Given the description of an element on the screen output the (x, y) to click on. 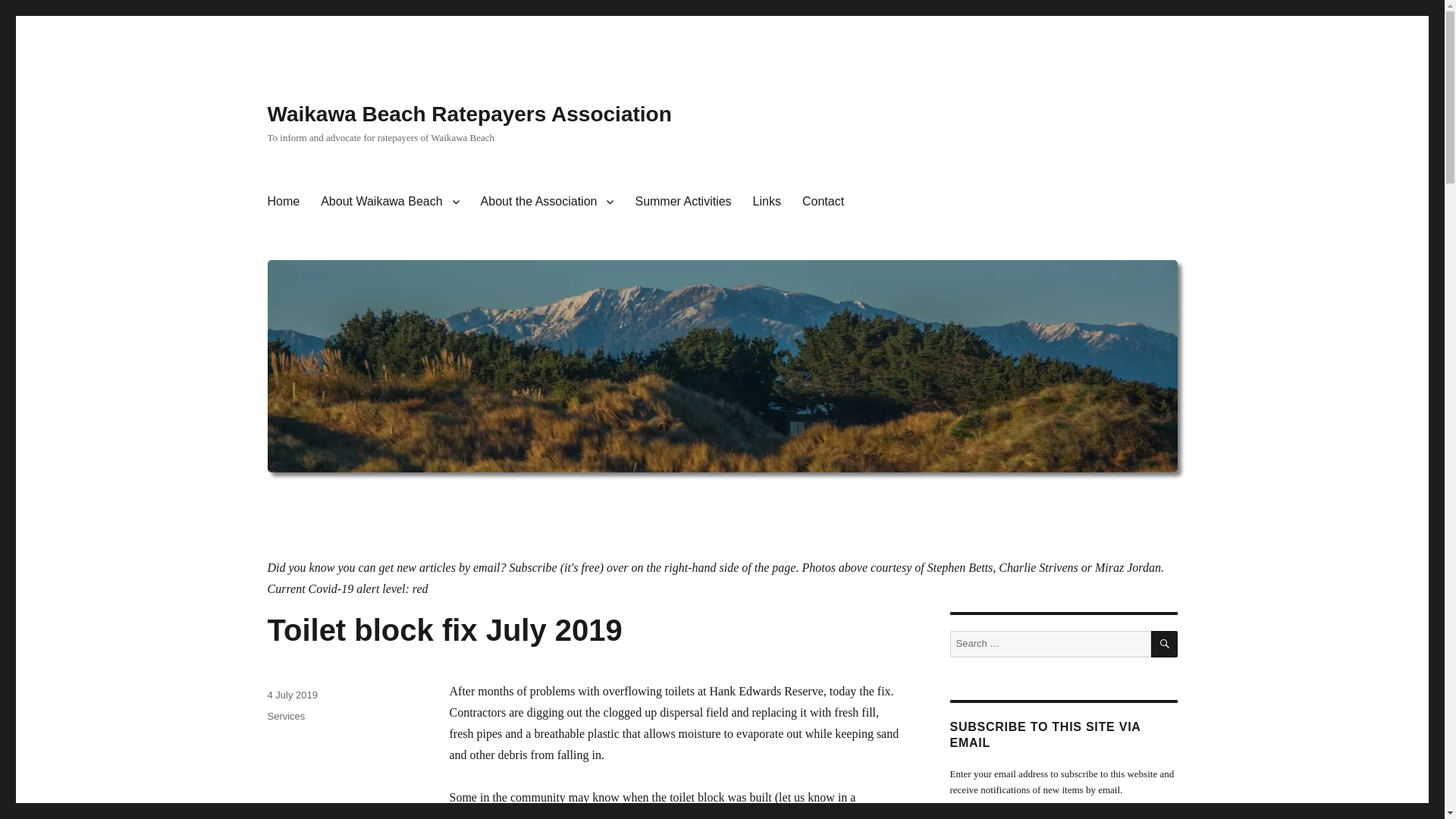
Links (767, 201)
Services (285, 715)
4 July 2019 (291, 695)
About Waikawa Beach (389, 201)
Waikawa Beach Ratepayers Association (468, 114)
About the Association (547, 201)
Summer Activities (682, 201)
Home (283, 201)
Contact (823, 201)
